Given the description of an element on the screen output the (x, y) to click on. 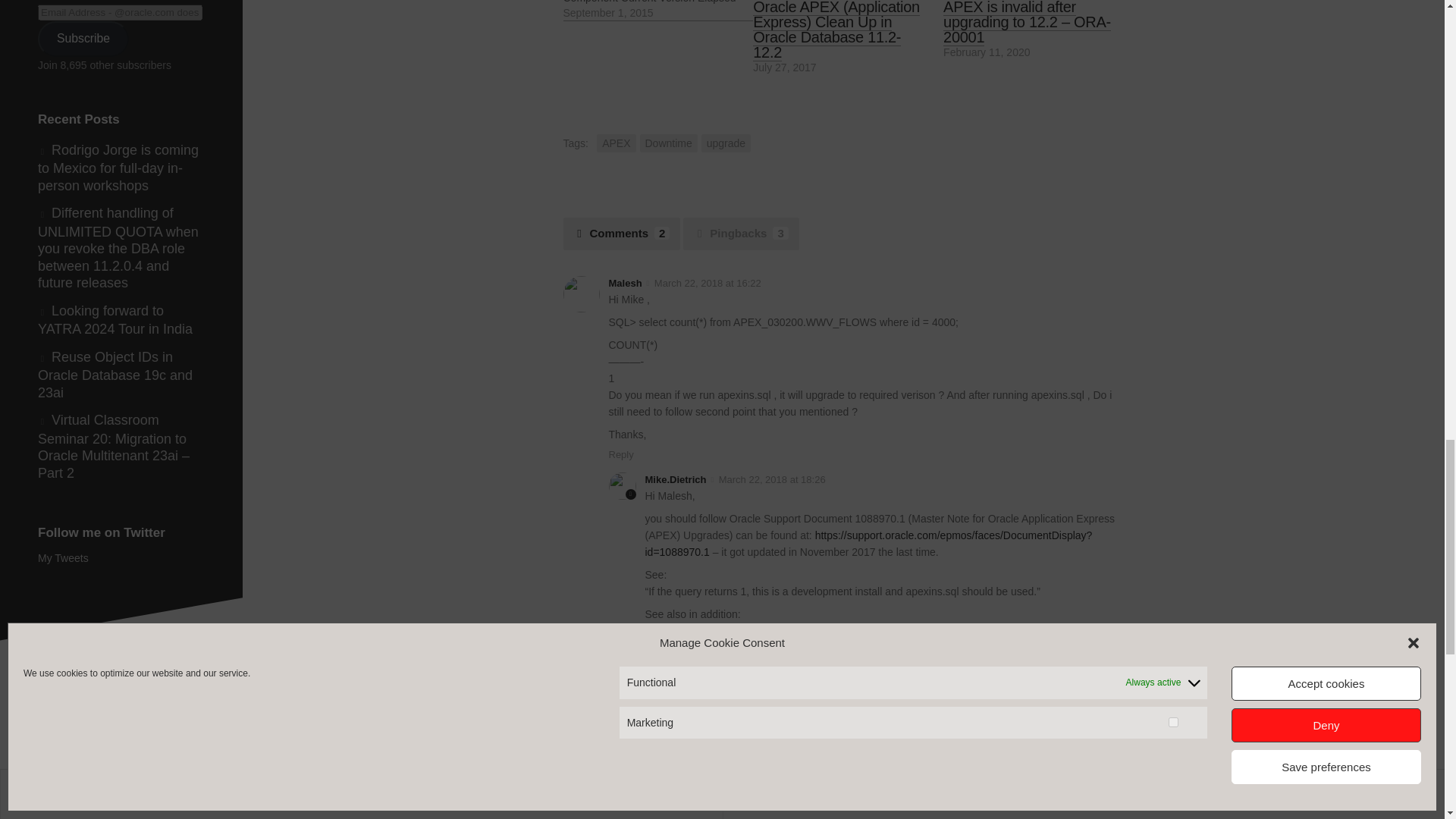
Upgrade downtime credited to APEX (657, 10)
